Given the description of an element on the screen output the (x, y) to click on. 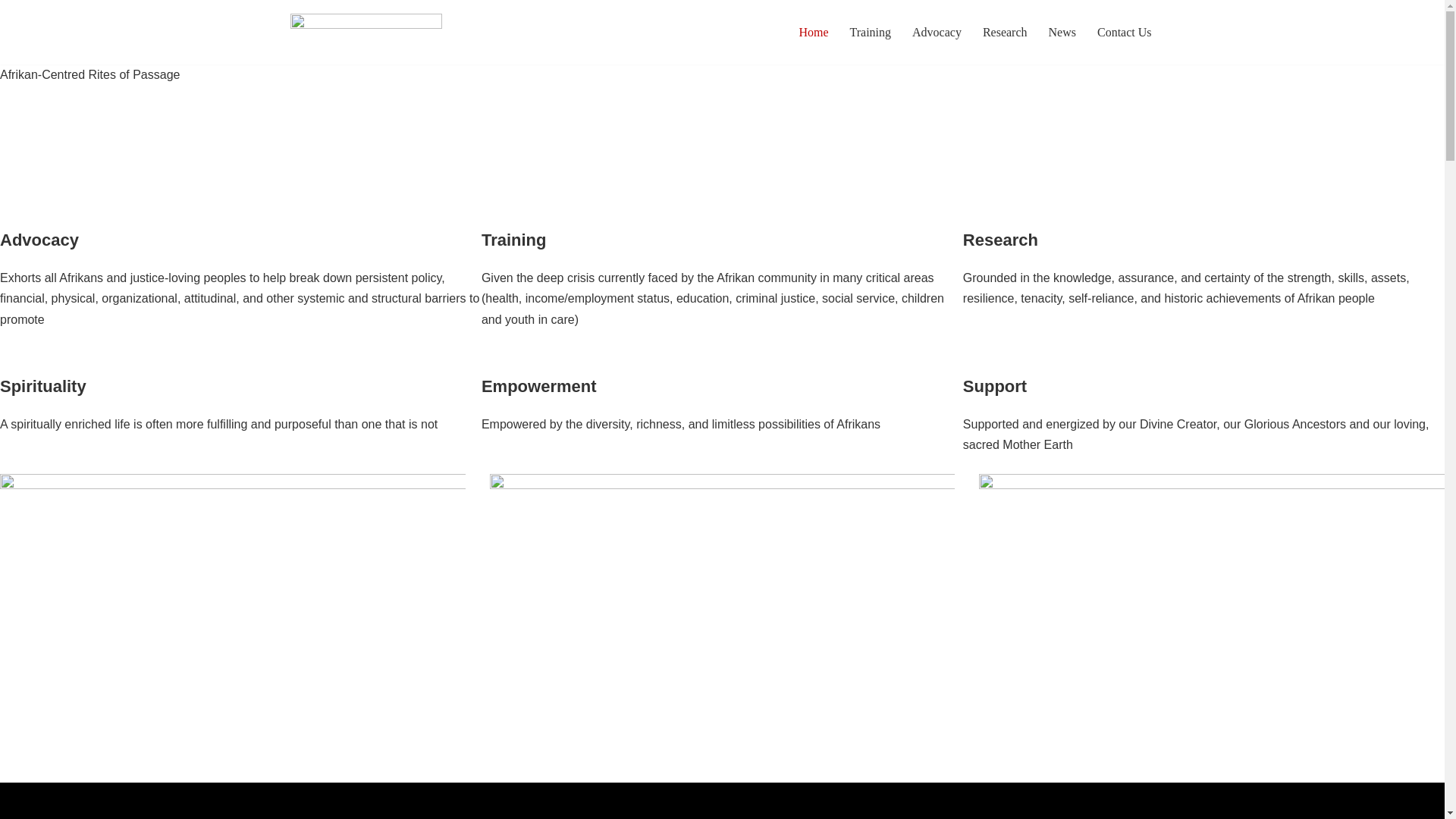
Contact Us (1124, 32)
Advocacy (936, 32)
Training (869, 32)
Research (1004, 32)
News (1061, 32)
Home (812, 32)
Skip to content (11, 31)
